Given the description of an element on the screen output the (x, y) to click on. 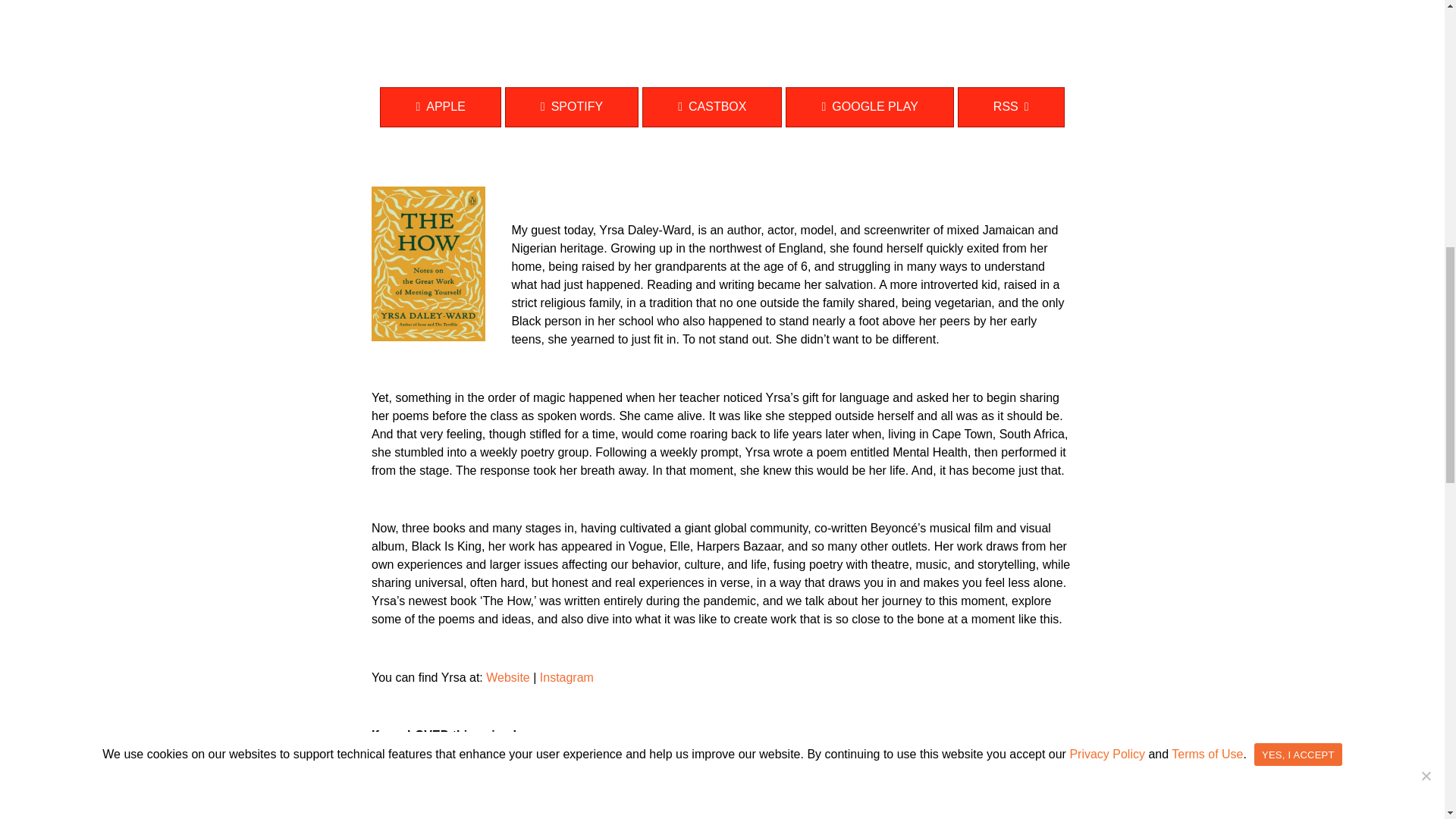
Yrsa Daley-Ward (427, 264)
GOOGLE PLAY (869, 106)
APPLE (440, 106)
SPOTIFY (572, 106)
Instagram (567, 676)
RSS (1011, 106)
Scroll (721, 6)
Cleo Wade (670, 793)
Scroll (721, 6)
CASTBOX (711, 106)
Website (507, 676)
